Given the description of an element on the screen output the (x, y) to click on. 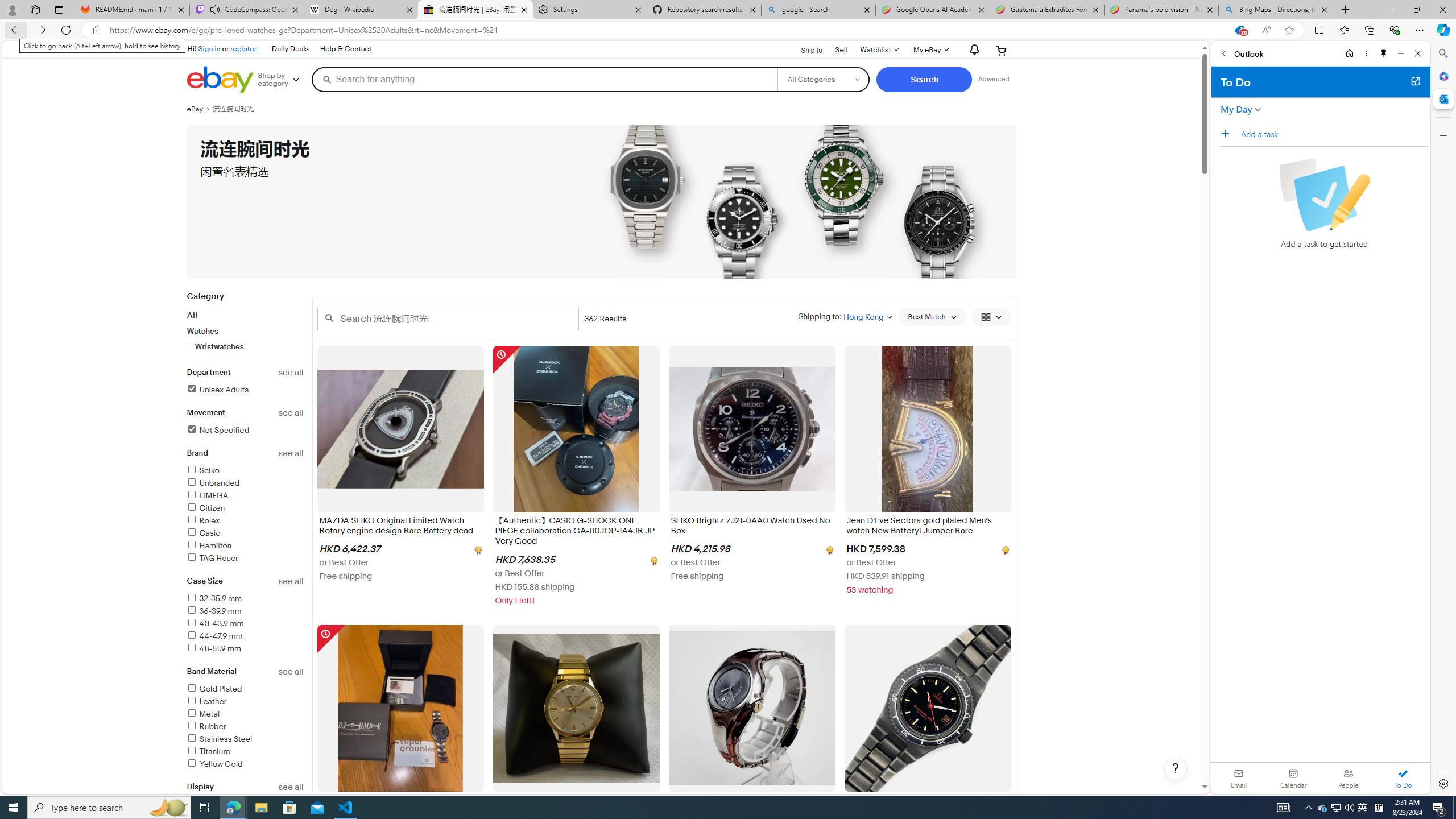
Mute tab (215, 8)
Advanced Search (993, 78)
Gold Plated (245, 689)
Departmentsee allUnisex AdultsFilter Applied (245, 387)
Metal (245, 714)
Leather (245, 701)
Unbranded (213, 483)
Hamilton (245, 546)
Watchlist (878, 49)
Rolex (202, 520)
TAG Heuer (245, 558)
AutomationID: gh-eb-Alerts (972, 49)
Ship to (804, 49)
Yellow Gold (214, 764)
